Given the description of an element on the screen output the (x, y) to click on. 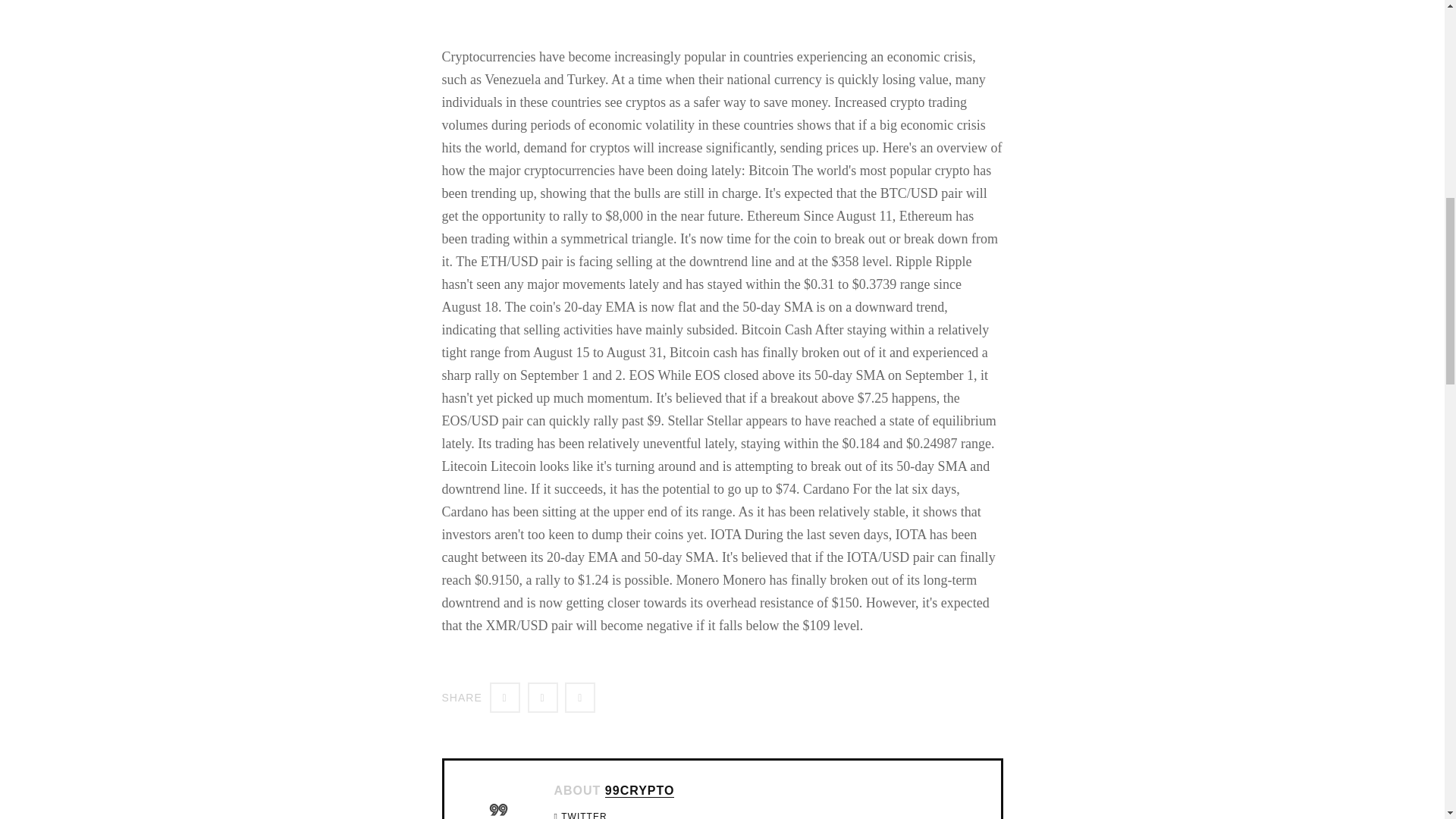
TWITTER (583, 815)
99CRYPTO (640, 790)
SHARE ON TWITTER (504, 697)
SHARE ON FACEBOOK (542, 697)
